Given the description of an element on the screen output the (x, y) to click on. 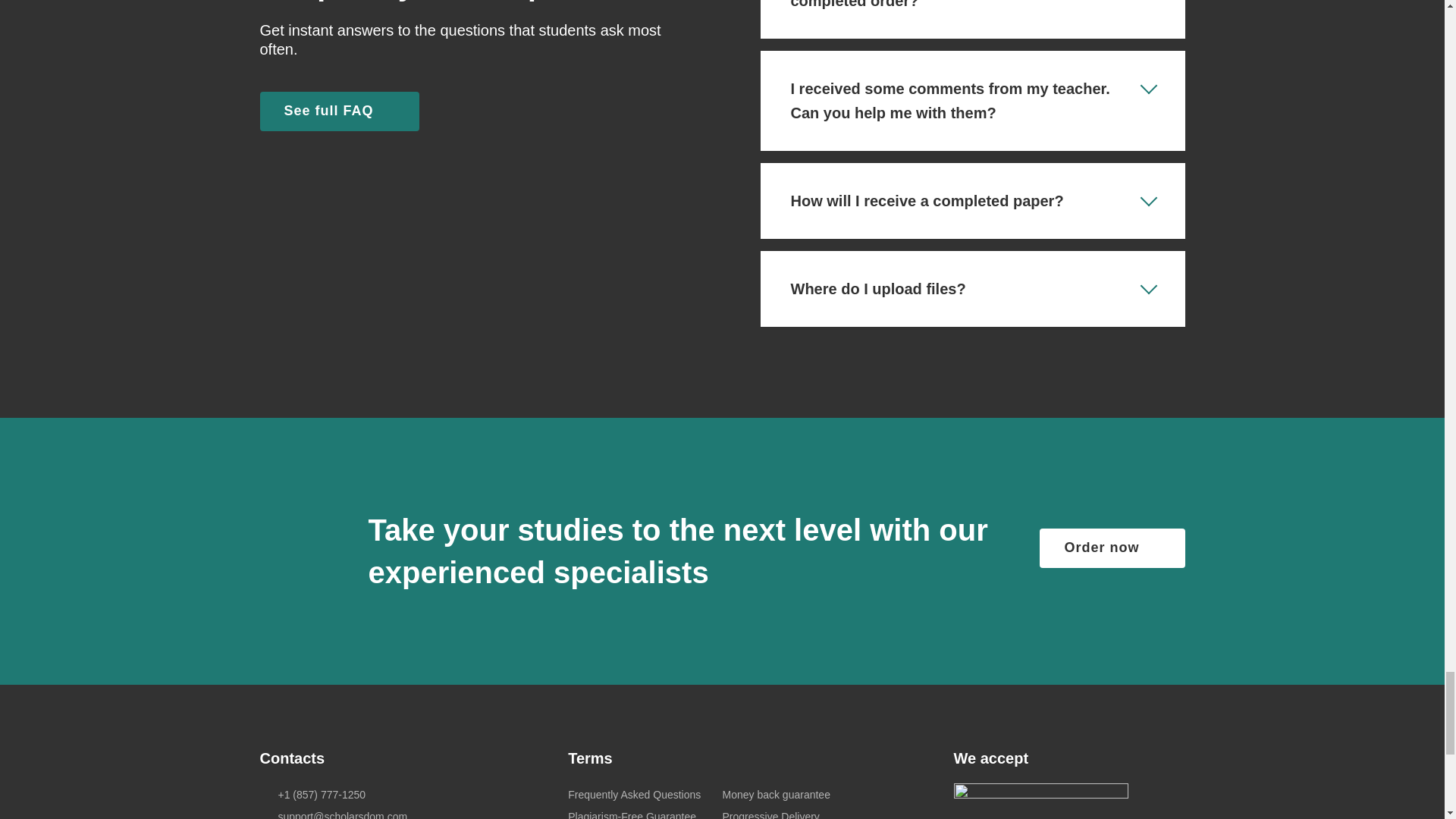
Progressive Delivery (770, 814)
Frequently Asked Questions (633, 794)
Money back guarantee (775, 794)
Plagiarism-Free Guarantee (631, 814)
Order now (1112, 548)
See full FAQ (339, 111)
